Given the description of an element on the screen output the (x, y) to click on. 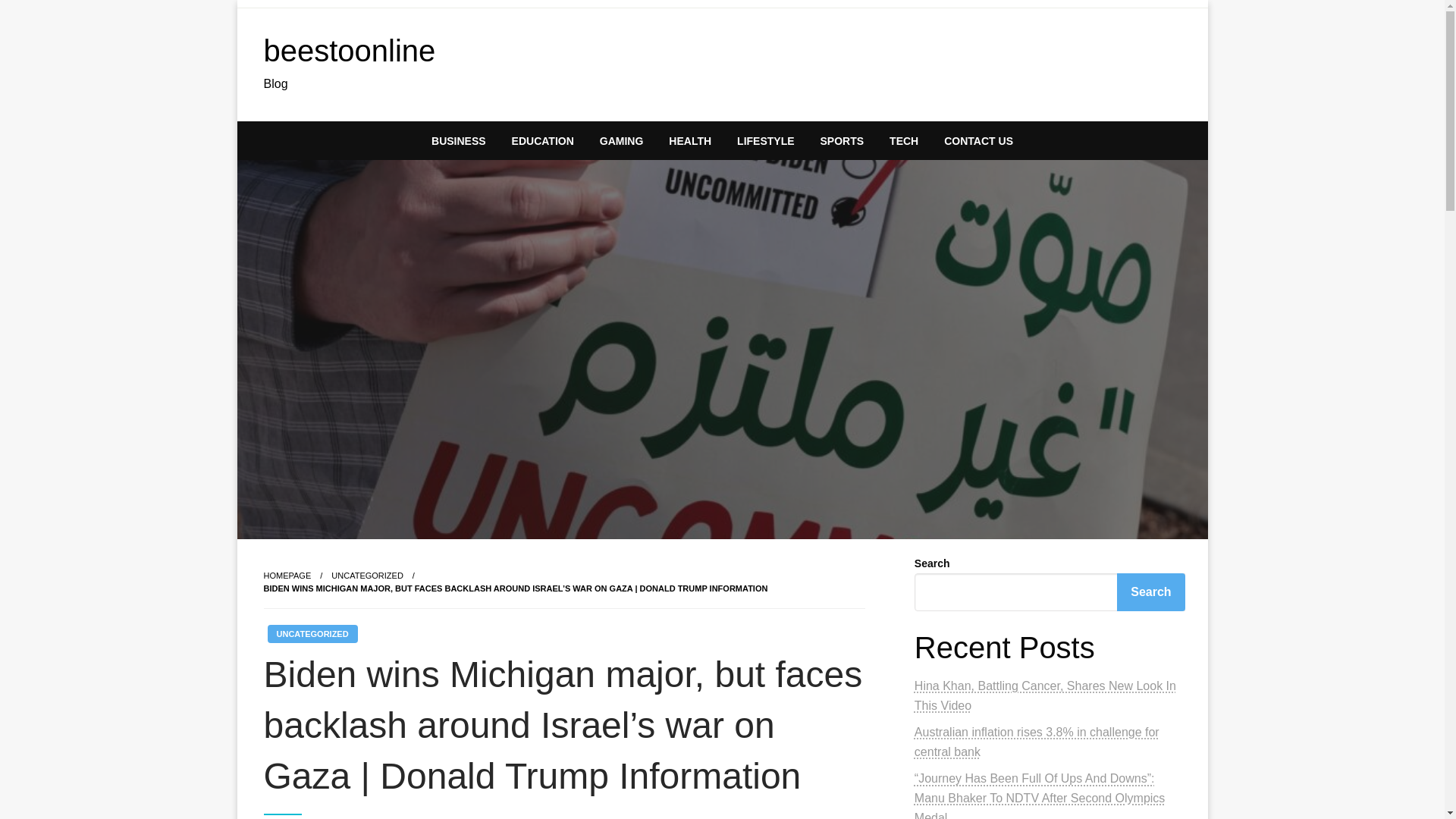
UNCATEGORIZED (311, 633)
Search (1150, 591)
CONTACT US (978, 140)
Uncategorized (367, 574)
BUSINESS (459, 140)
SPORTS (842, 140)
beestoonline (349, 50)
UNCATEGORIZED (367, 574)
HEALTH (689, 140)
GAMING (621, 140)
Homepage (287, 574)
TECH (903, 140)
LIFESTYLE (764, 140)
HOMEPAGE (287, 574)
EDUCATION (542, 140)
